Given the description of an element on the screen output the (x, y) to click on. 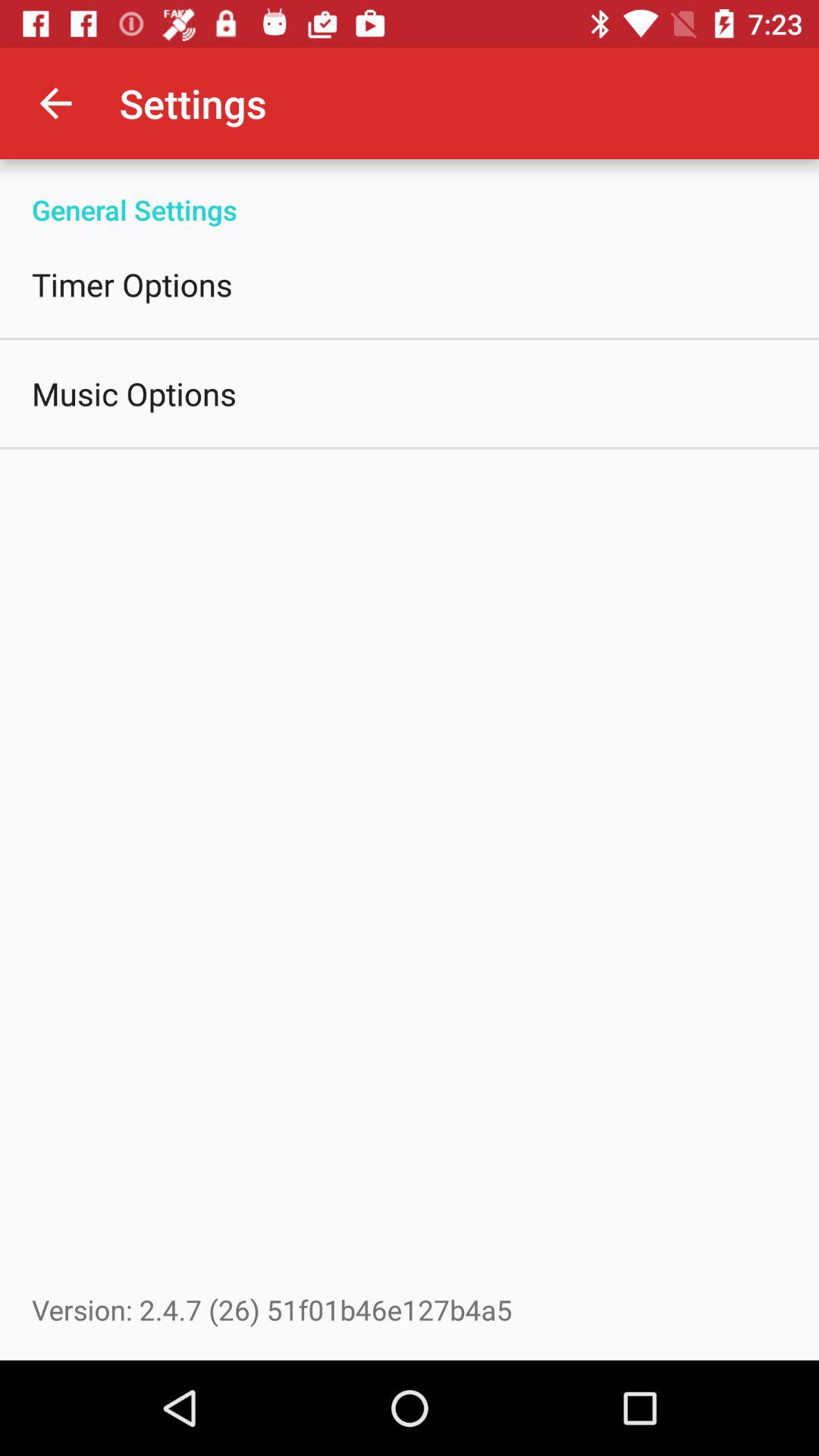
swipe until the music options icon (133, 393)
